Given the description of an element on the screen output the (x, y) to click on. 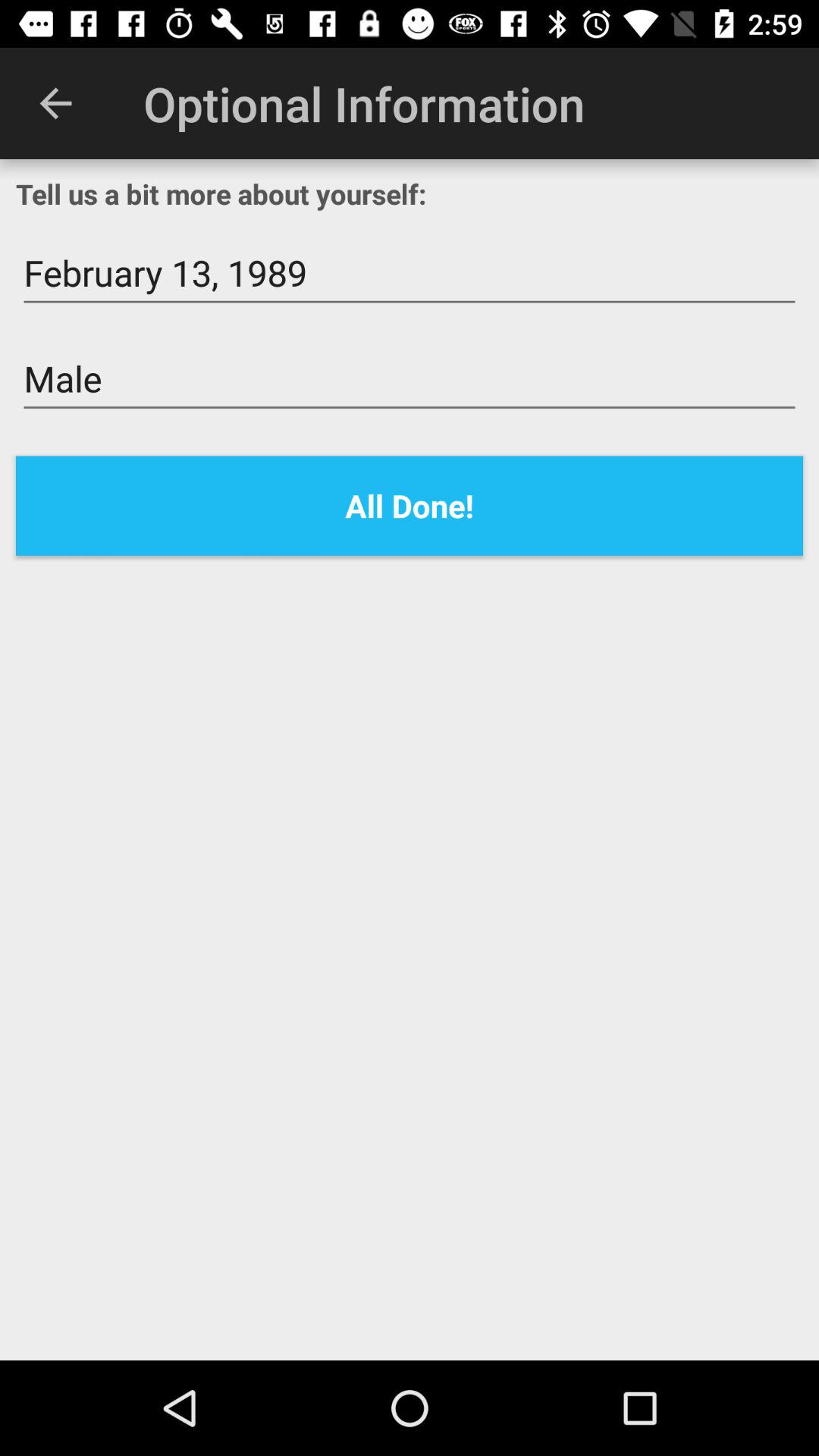
turn off item at the center (409, 505)
